Given the description of an element on the screen output the (x, y) to click on. 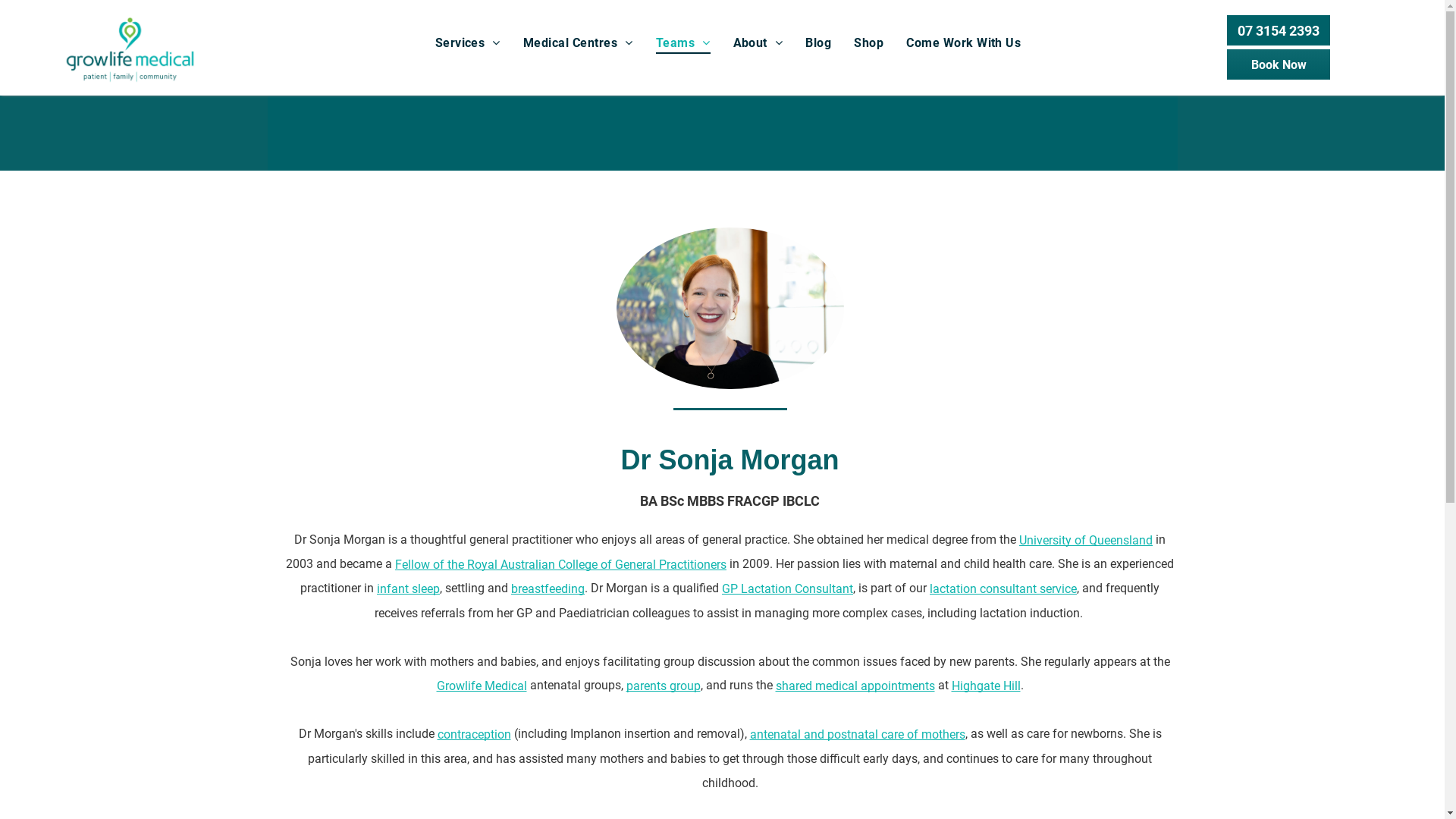
University of Queensland Element type: text (1085, 540)
Come Work With Us Element type: text (963, 42)
Medical Centres Element type: text (577, 42)
Shop Element type: text (868, 42)
infant sleep Element type: text (407, 588)
Blog Element type: text (817, 42)
shared medical appointments Element type: text (854, 685)
Book Now Element type: text (1278, 64)
Dr Sonja Morgan Element type: hover (729, 308)
Growlife Medical Element type: text (481, 685)
breastfeeding Element type: text (547, 588)
Services Element type: text (467, 42)
Highgate Hill Element type: text (984, 685)
About Element type: text (757, 42)
parents group Element type: text (663, 685)
lactation consultant service Element type: text (1002, 588)
Teams Element type: text (682, 42)
antenatal and postnatal care of mothers Element type: text (856, 734)
contraception Element type: text (473, 734)
07 3154 2393 Element type: text (1278, 30)
GP Lactation Consultant Element type: text (787, 588)
